Given the description of an element on the screen output the (x, y) to click on. 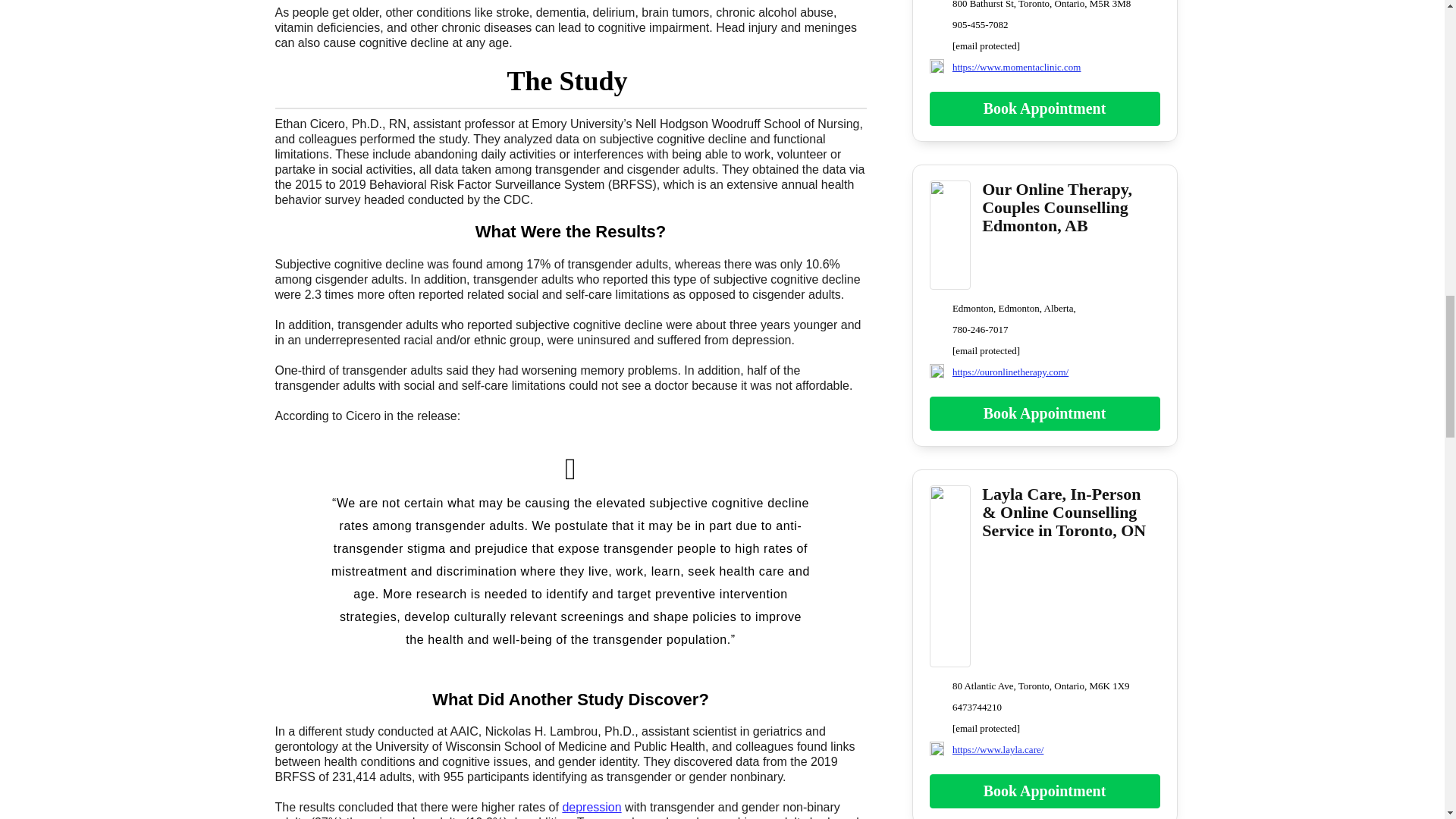
Our Online Therapy, Couples Counselling Edmonton, AB (950, 279)
